Given the description of an element on the screen output the (x, y) to click on. 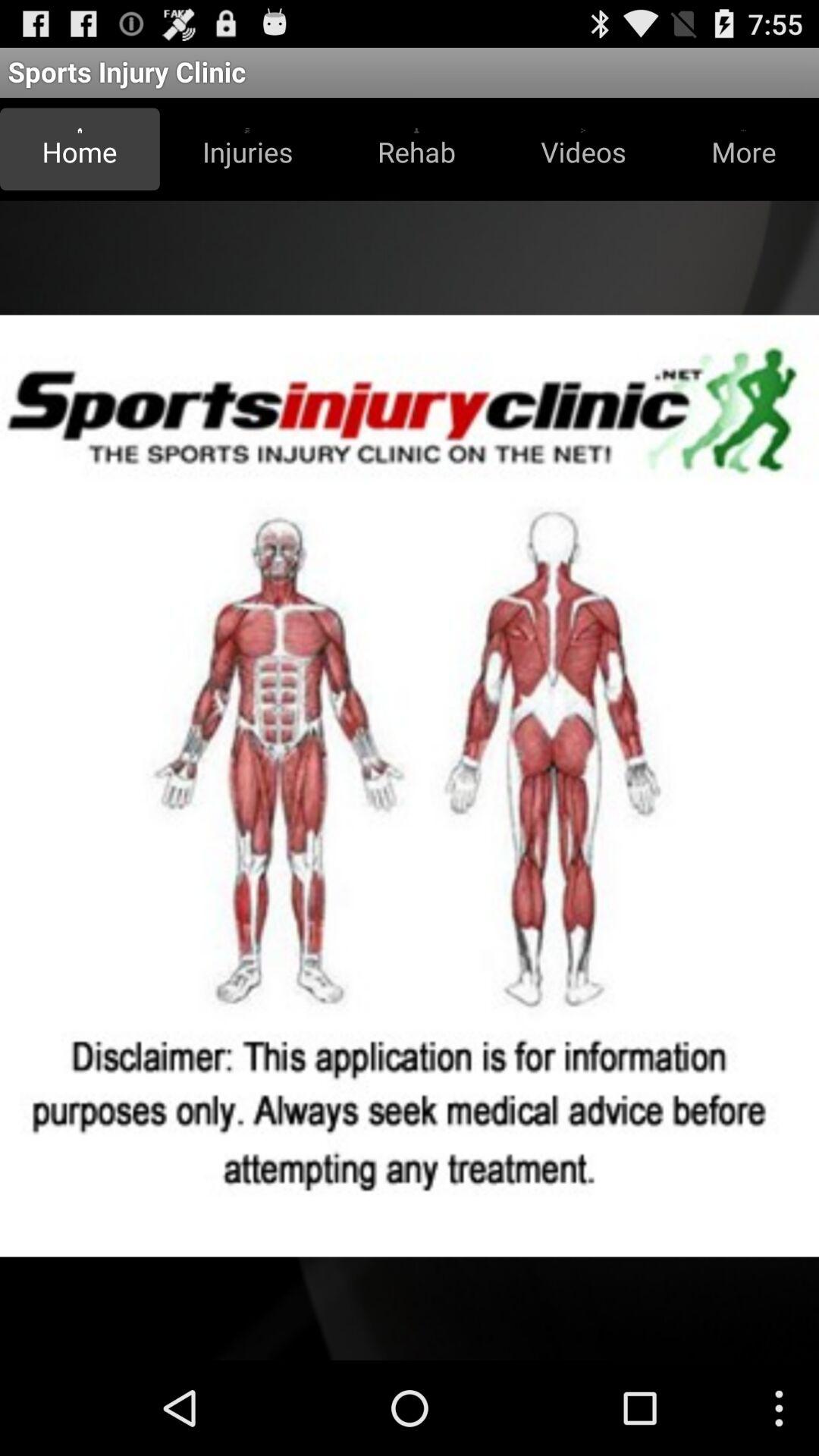
turn off the icon next to home (246, 149)
